Given the description of an element on the screen output the (x, y) to click on. 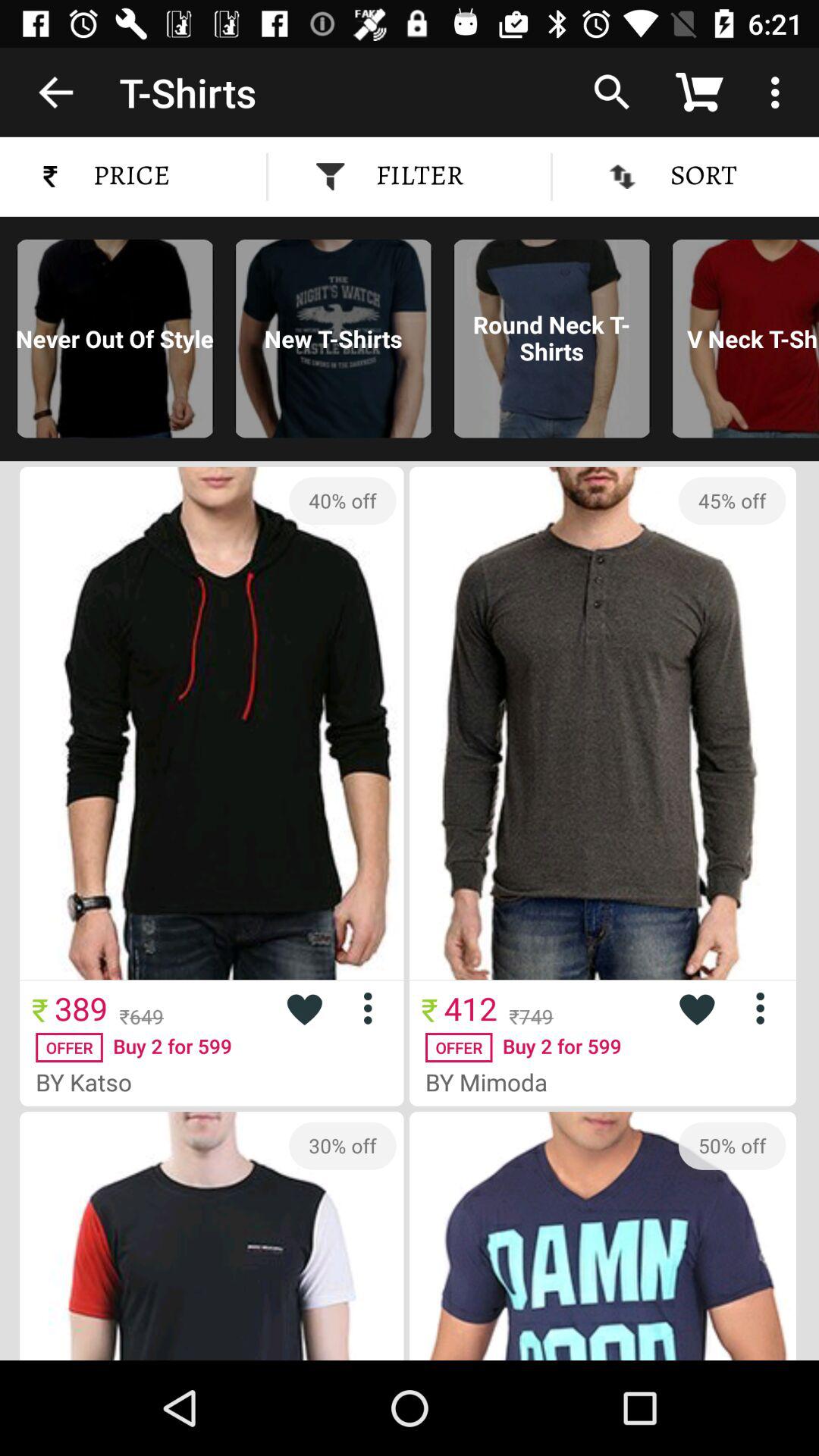
select menu for highlighted item (373, 1008)
